Given the description of an element on the screen output the (x, y) to click on. 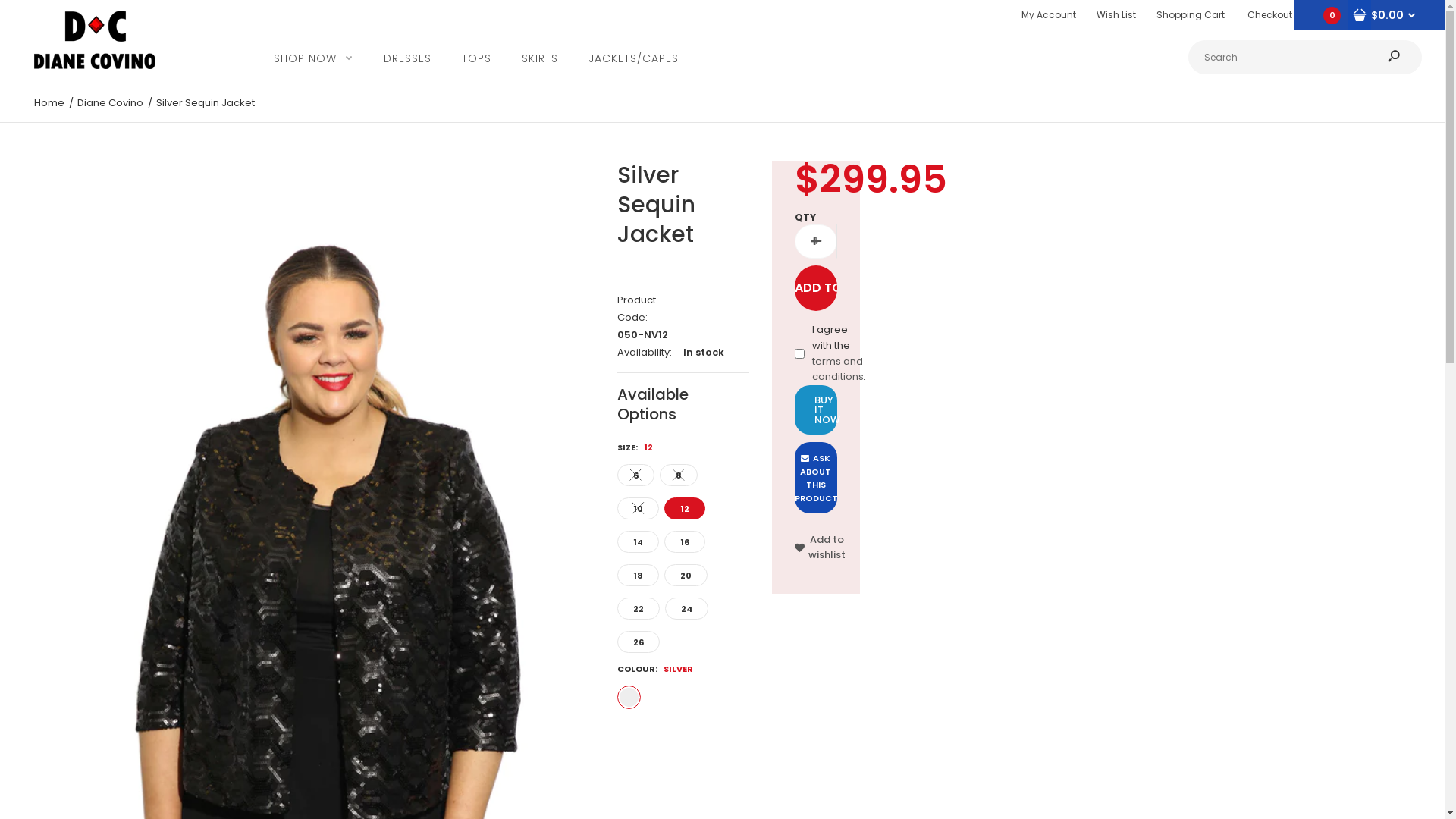
Diane Covino Element type: hover (94, 39)
Home Element type: text (49, 102)
My Account Element type: text (1048, 14)
BUY IT NOW Element type: text (815, 409)
terms and conditions Element type: text (837, 369)
ASK ABOUT THIS PRODUCT Element type: text (815, 477)
Add to wishlist Element type: text (819, 548)
Add to cart Element type: text (815, 287)
Diane Covino Element type: hover (94, 65)
JACKETS/CAPES Element type: text (633, 57)
SKIRTS Element type: text (539, 57)
Wish List Element type: text (1115, 14)
Diane Covino Element type: text (110, 102)
Silver Sequin Jacket Element type: text (205, 102)
SHOP NOW Element type: text (313, 57)
Silver Element type: hover (628, 697)
Checkout Element type: text (1269, 14)
DRESSES Element type: text (407, 57)
Shopping Cart Element type: text (1190, 14)
TOPS Element type: text (476, 57)
